Given the description of an element on the screen output the (x, y) to click on. 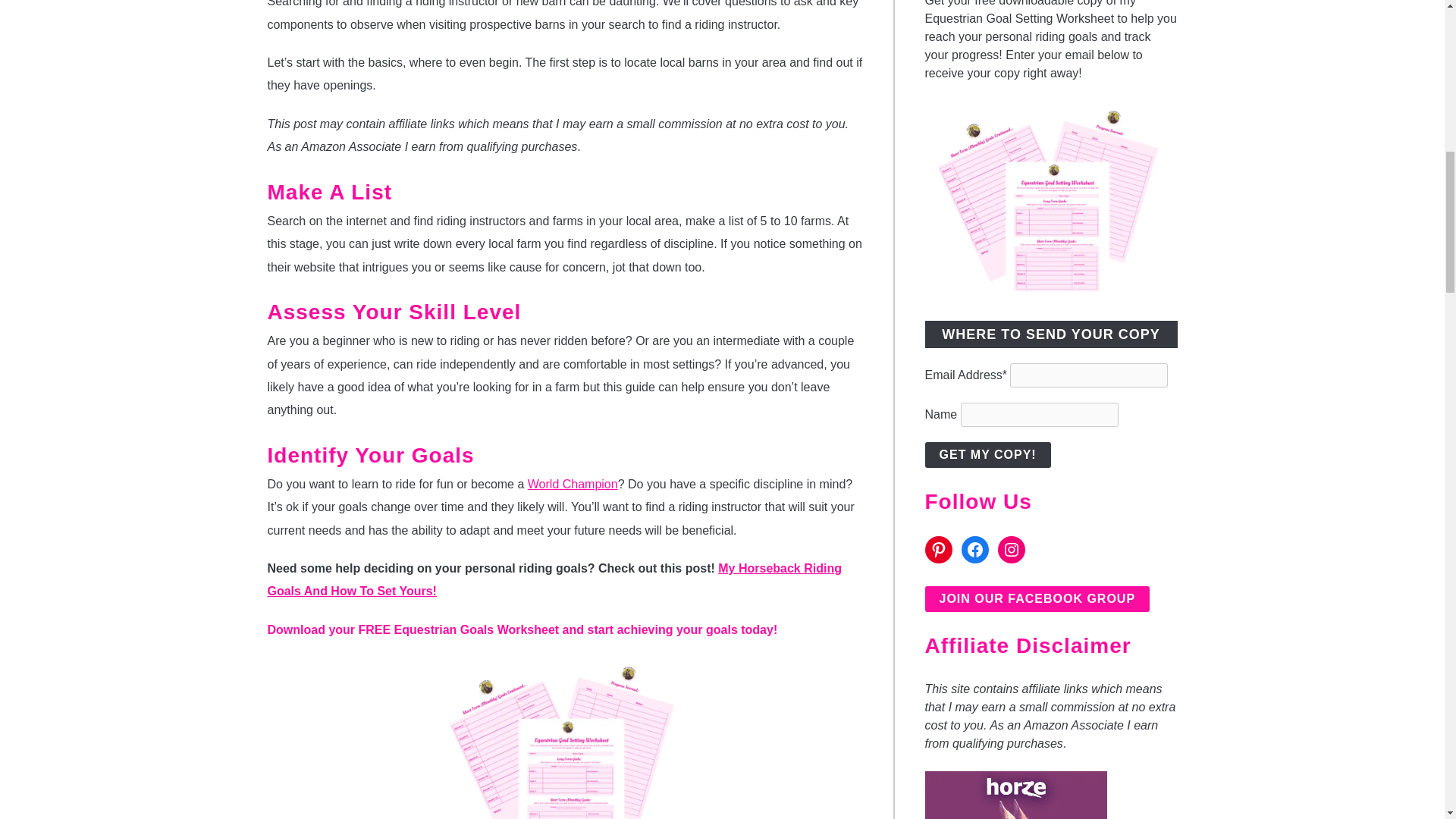
My Horseback Riding Goals And How To Set Yours! (553, 579)
World Champion (572, 483)
Get My Copy! (987, 454)
